Given the description of an element on the screen output the (x, y) to click on. 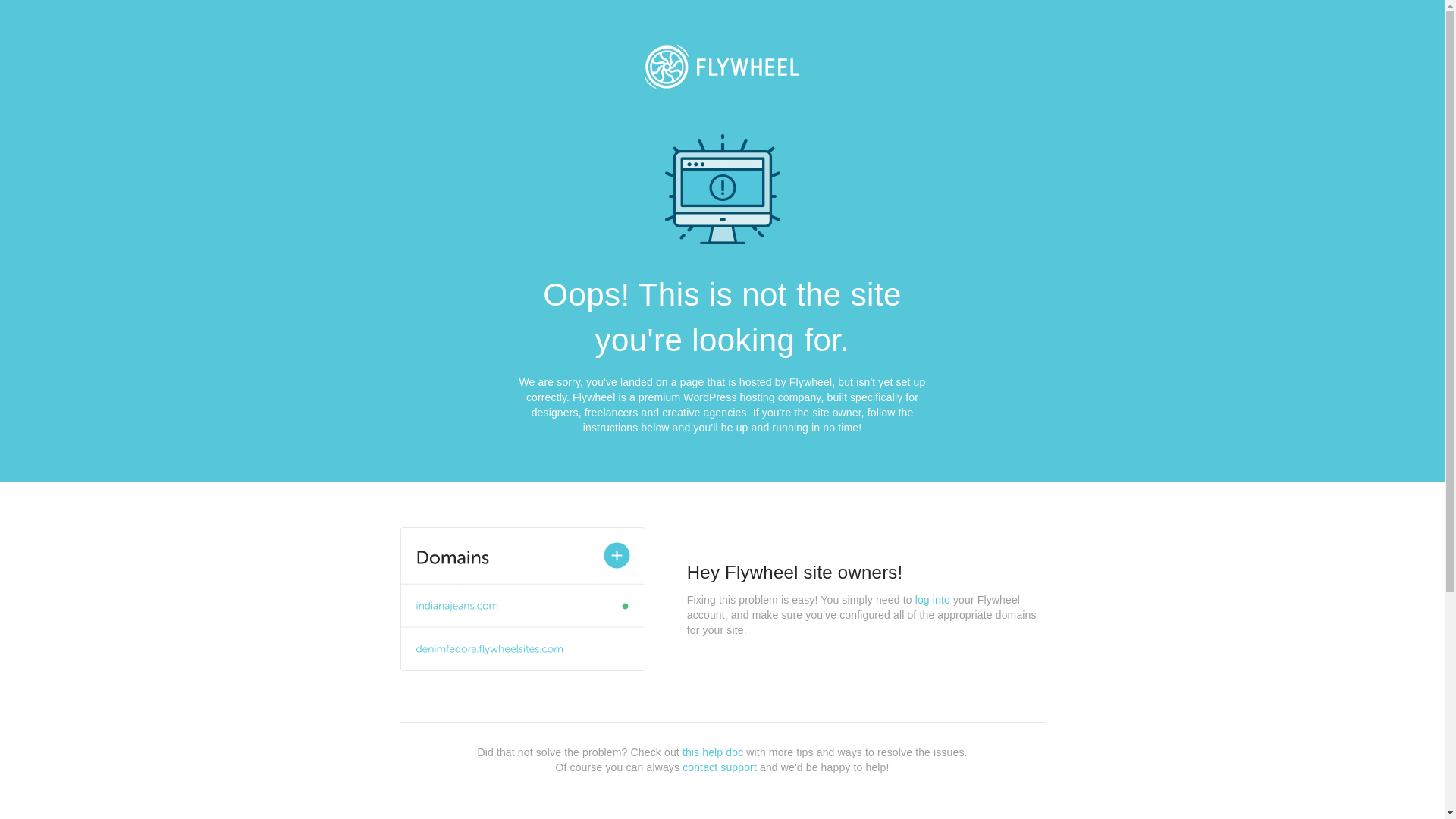
this help doc (712, 752)
log into (932, 599)
contact support (719, 767)
